Given the description of an element on the screen output the (x, y) to click on. 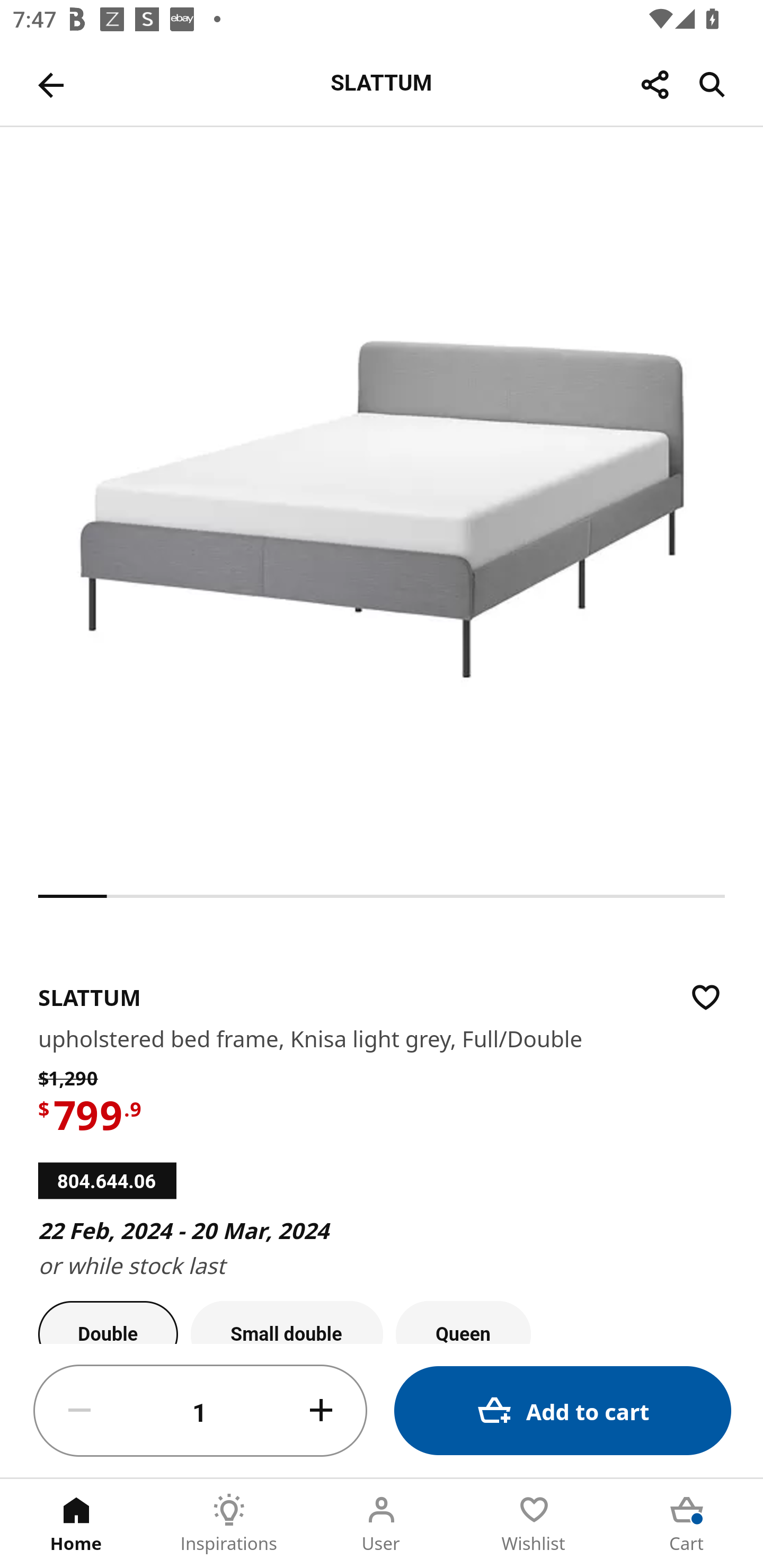
Double (107, 1322)
Small double (286, 1322)
Queen (463, 1322)
Add to cart (562, 1410)
1 (200, 1411)
Home
Tab 1 of 5 (76, 1522)
Inspirations
Tab 2 of 5 (228, 1522)
User
Tab 3 of 5 (381, 1522)
Wishlist
Tab 4 of 5 (533, 1522)
Cart
Tab 5 of 5 (686, 1522)
